Given the description of an element on the screen output the (x, y) to click on. 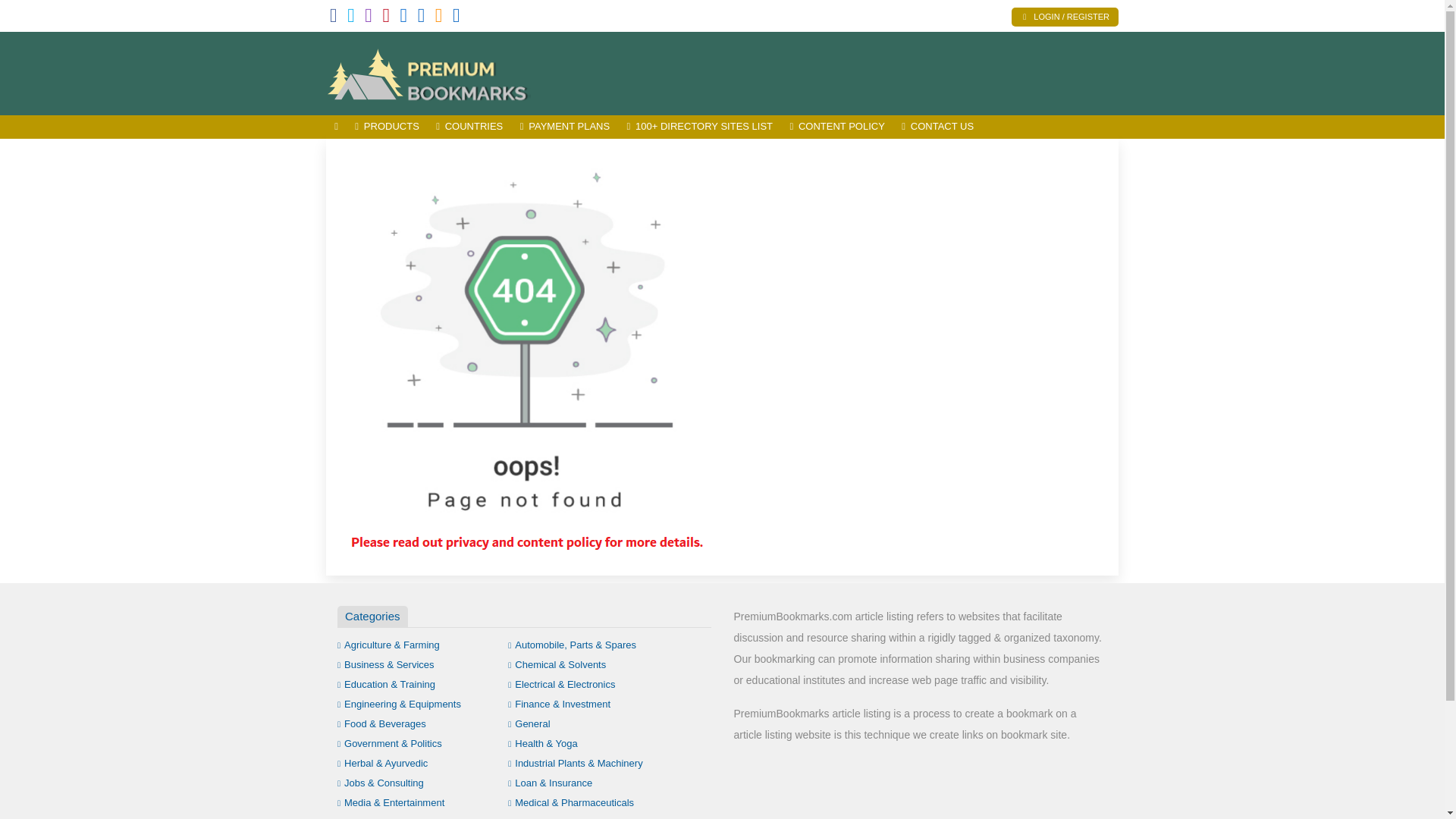
PAYMENT PLANS (564, 126)
General (529, 723)
CONTENT POLICY (836, 126)
PRODUCTS (387, 126)
CONTACT US (937, 126)
COUNTRIES (469, 126)
